Given the description of an element on the screen output the (x, y) to click on. 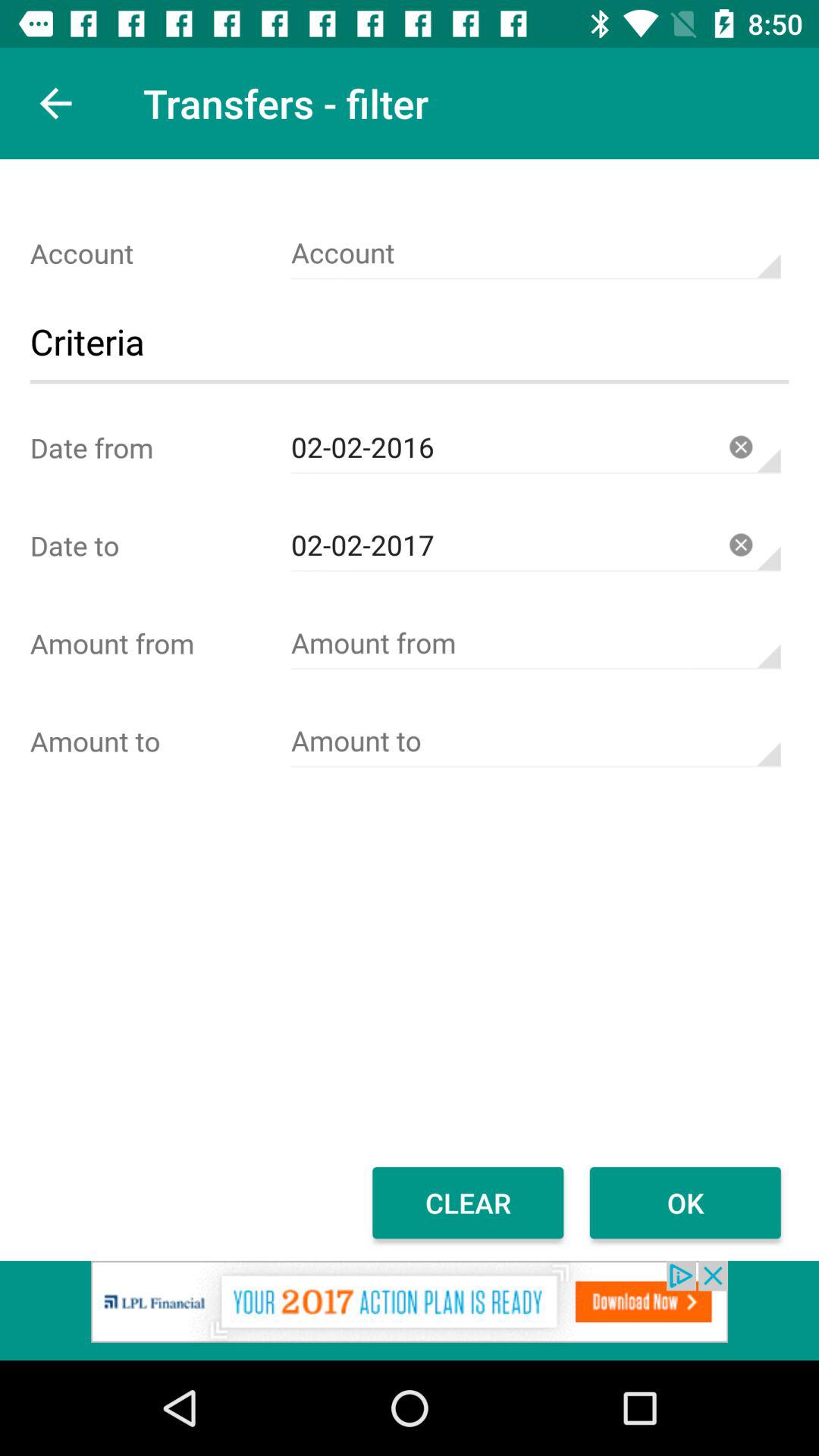
type the text just to the right of date to (535, 545)
